Given the description of an element on the screen output the (x, y) to click on. 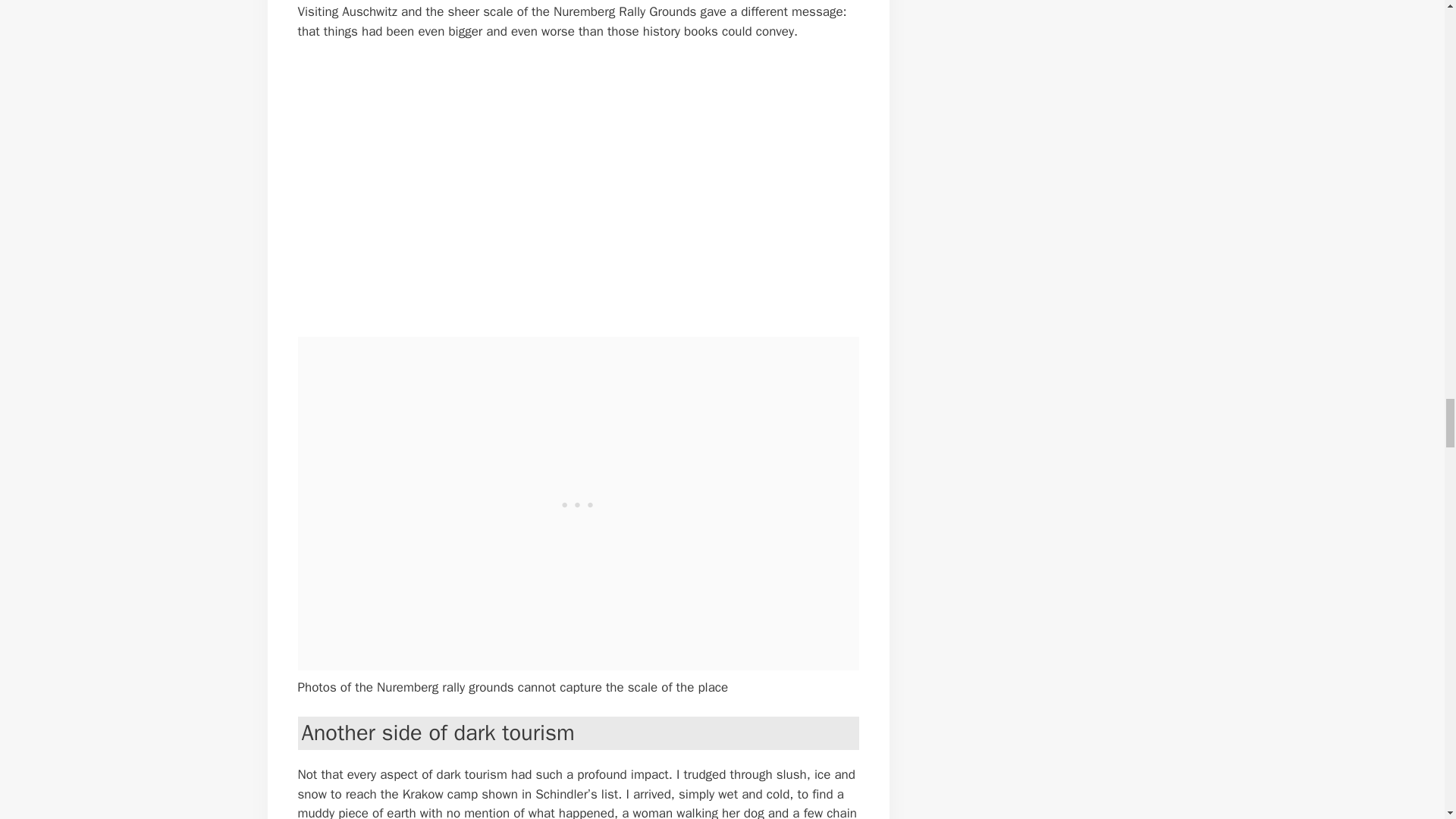
Dark tourism - Nuremberg rally grounds (547, 186)
